Given the description of an element on the screen output the (x, y) to click on. 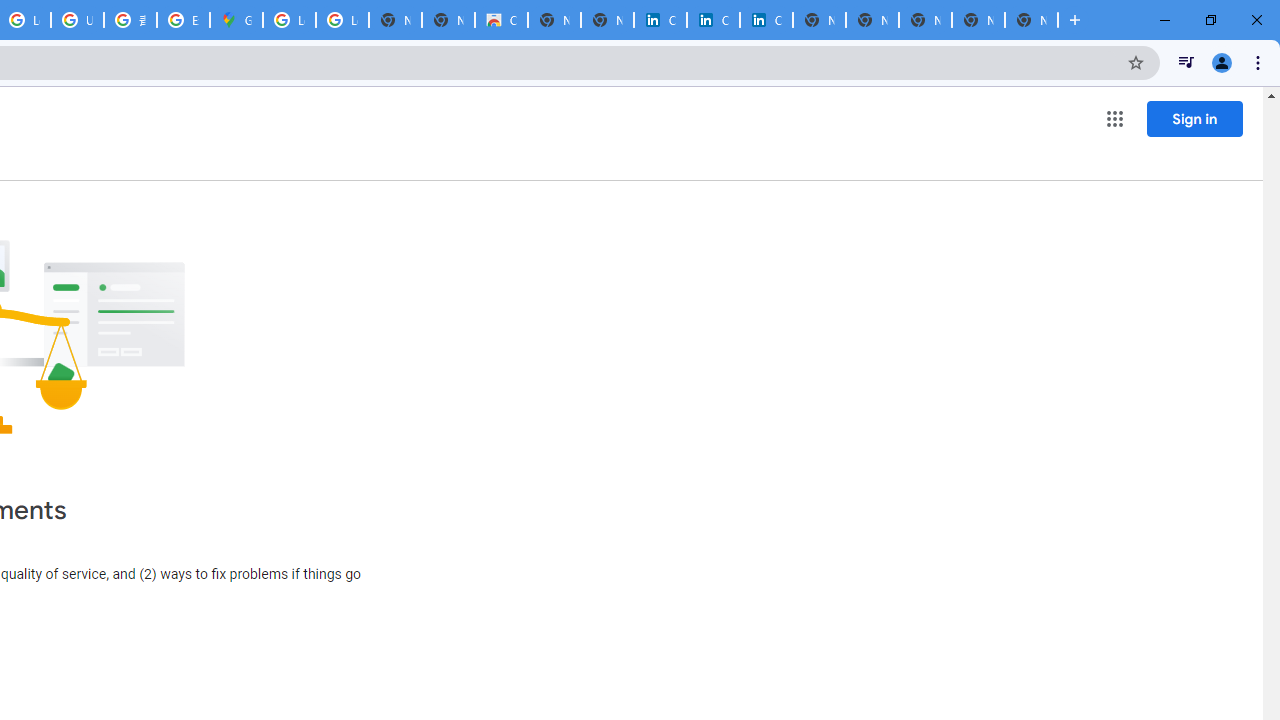
Cookie Policy | LinkedIn (660, 20)
New Tab (1031, 20)
Chrome Web Store (501, 20)
Cookie Policy | LinkedIn (713, 20)
Google Maps (235, 20)
Explore new street-level details - Google Maps Help (183, 20)
